Given the description of an element on the screen output the (x, y) to click on. 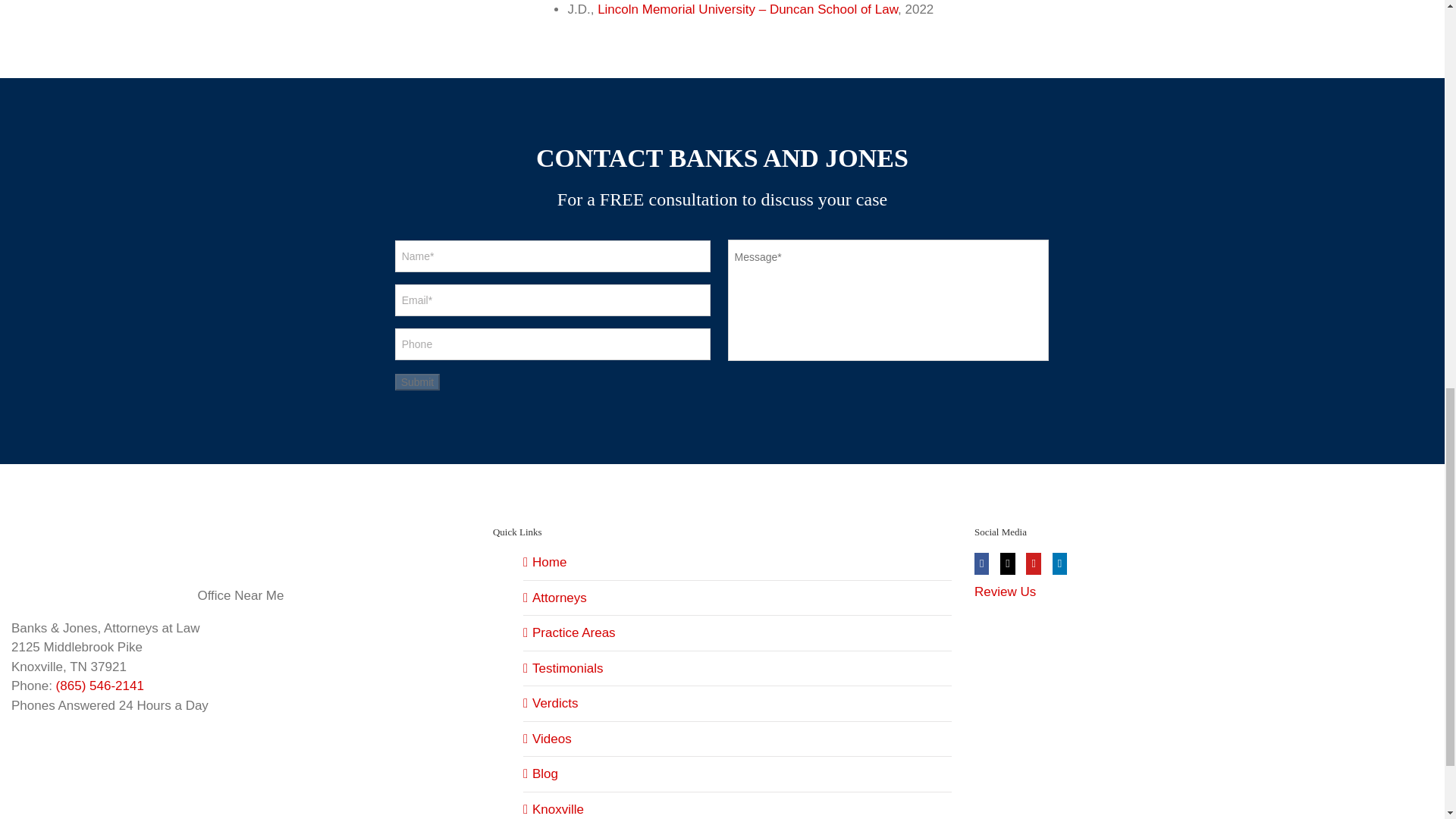
Submit (417, 381)
